Given the description of an element on the screen output the (x, y) to click on. 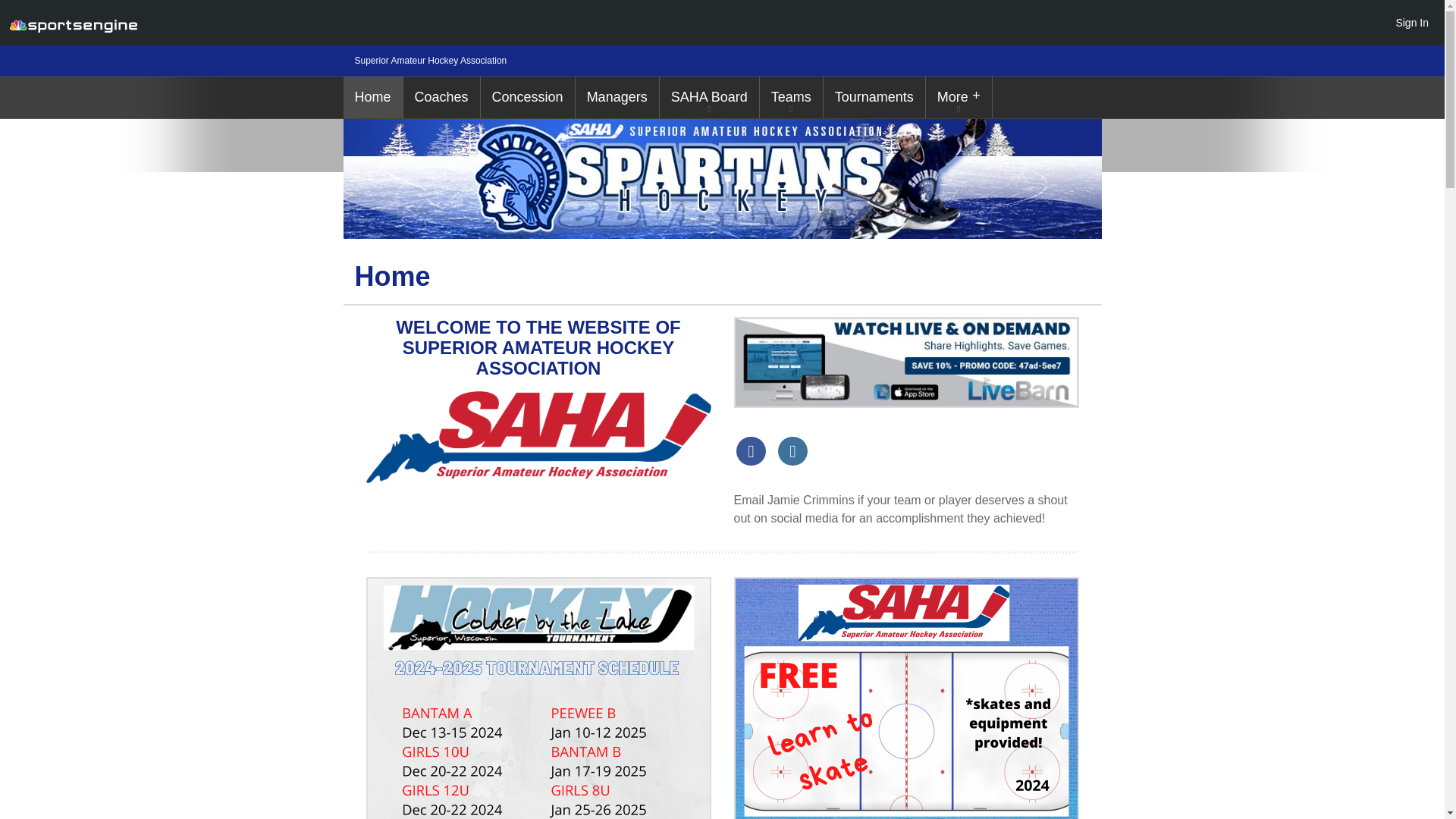
Concession (527, 96)
click to go to 'Manager Information' (617, 96)
click to go to 'Coaches' (441, 96)
Sign In (1411, 22)
Tournaments (874, 96)
Teams (791, 96)
SportsEngine (73, 22)
SAHA Board (708, 96)
Coaches (441, 96)
Home (371, 96)
click to go to 'SAHA Board' (708, 96)
click to go to 'Home' (371, 96)
click to go to 'Concession ' (527, 96)
More (958, 96)
click to go to 'Tournaments' (874, 96)
